Given the description of an element on the screen output the (x, y) to click on. 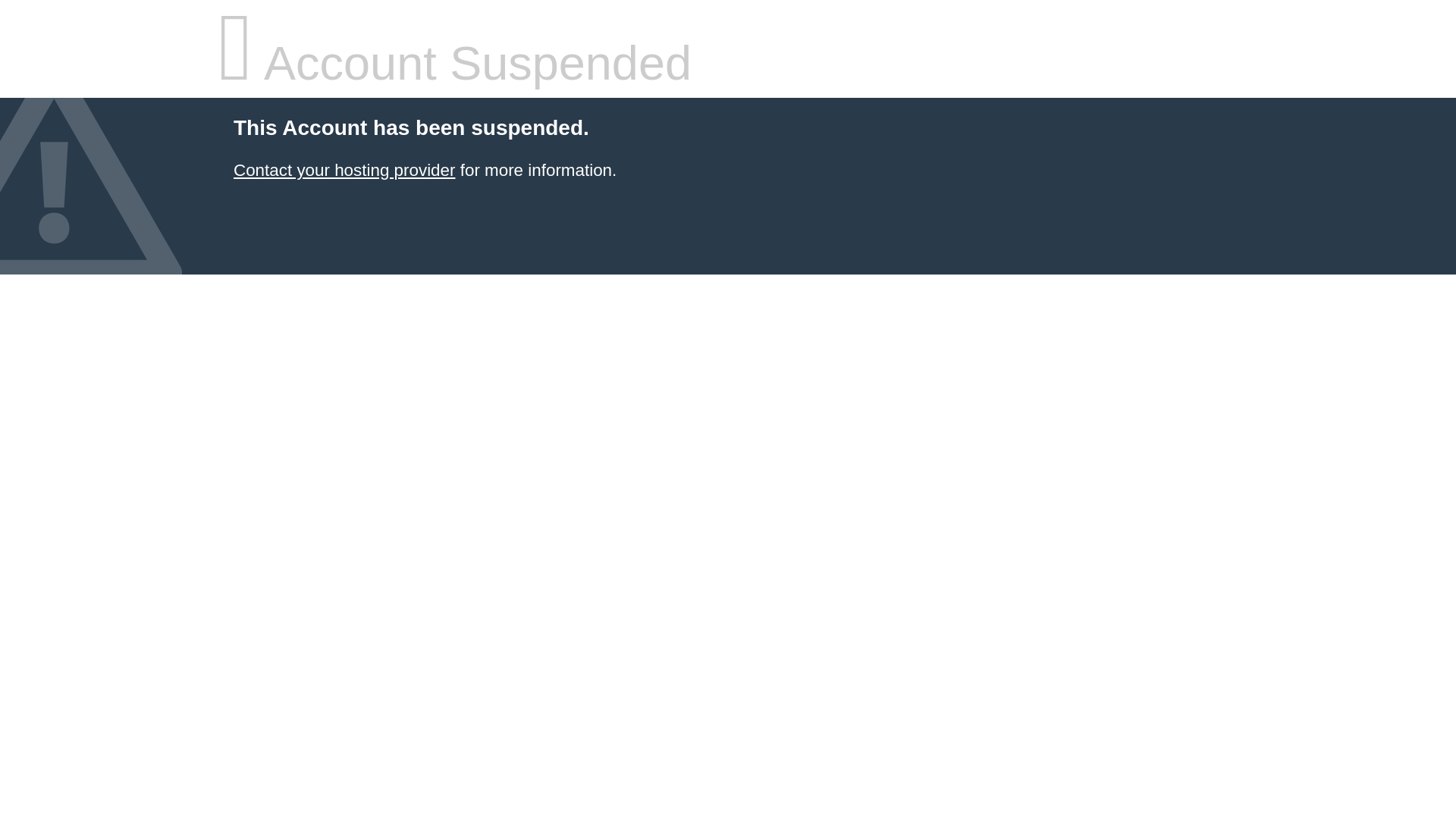
Contact your hosting provider (343, 169)
